Given the description of an element on the screen output the (x, y) to click on. 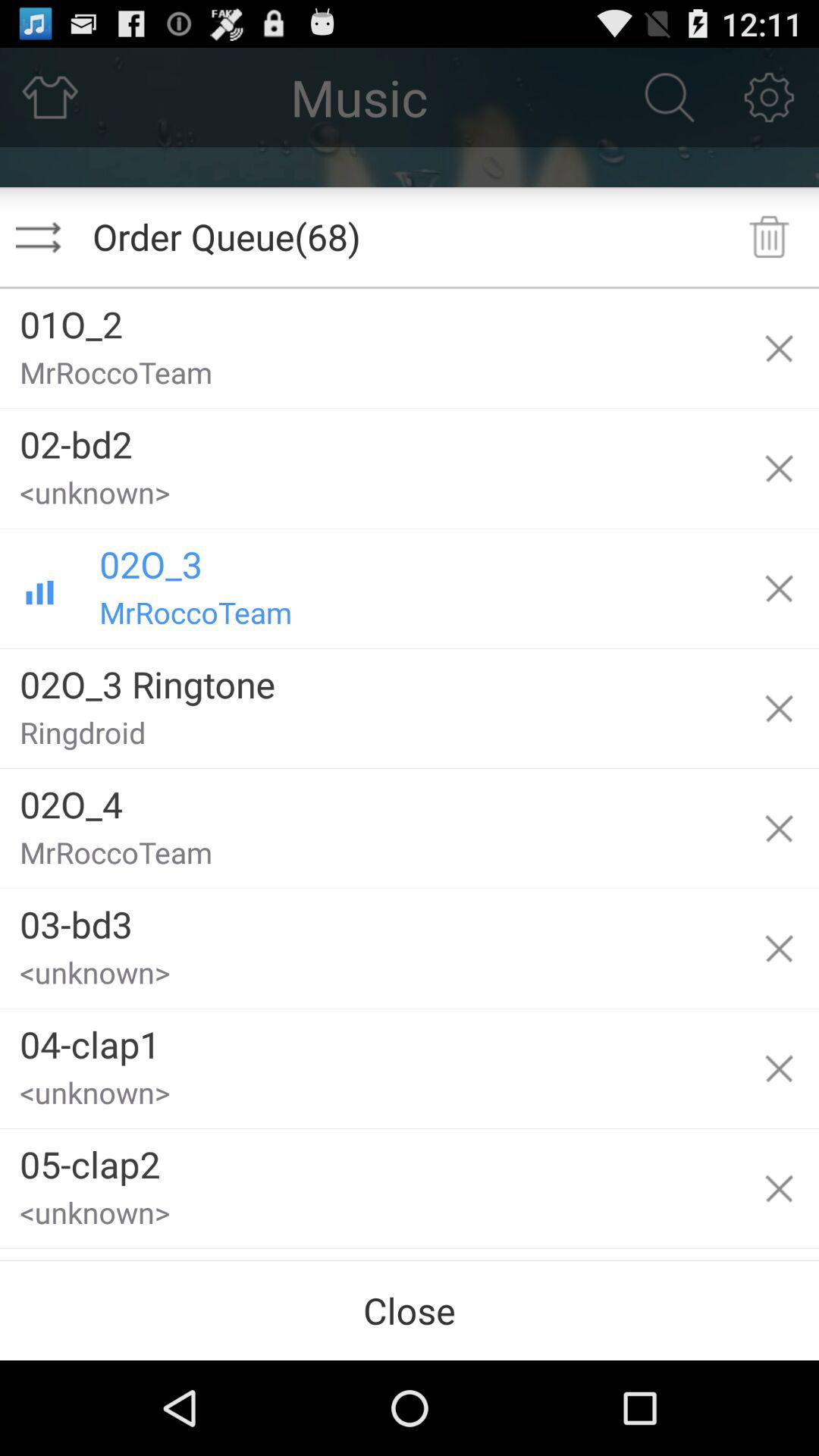
jump until the 02-bd2 item (369, 438)
